Given the description of an element on the screen output the (x, y) to click on. 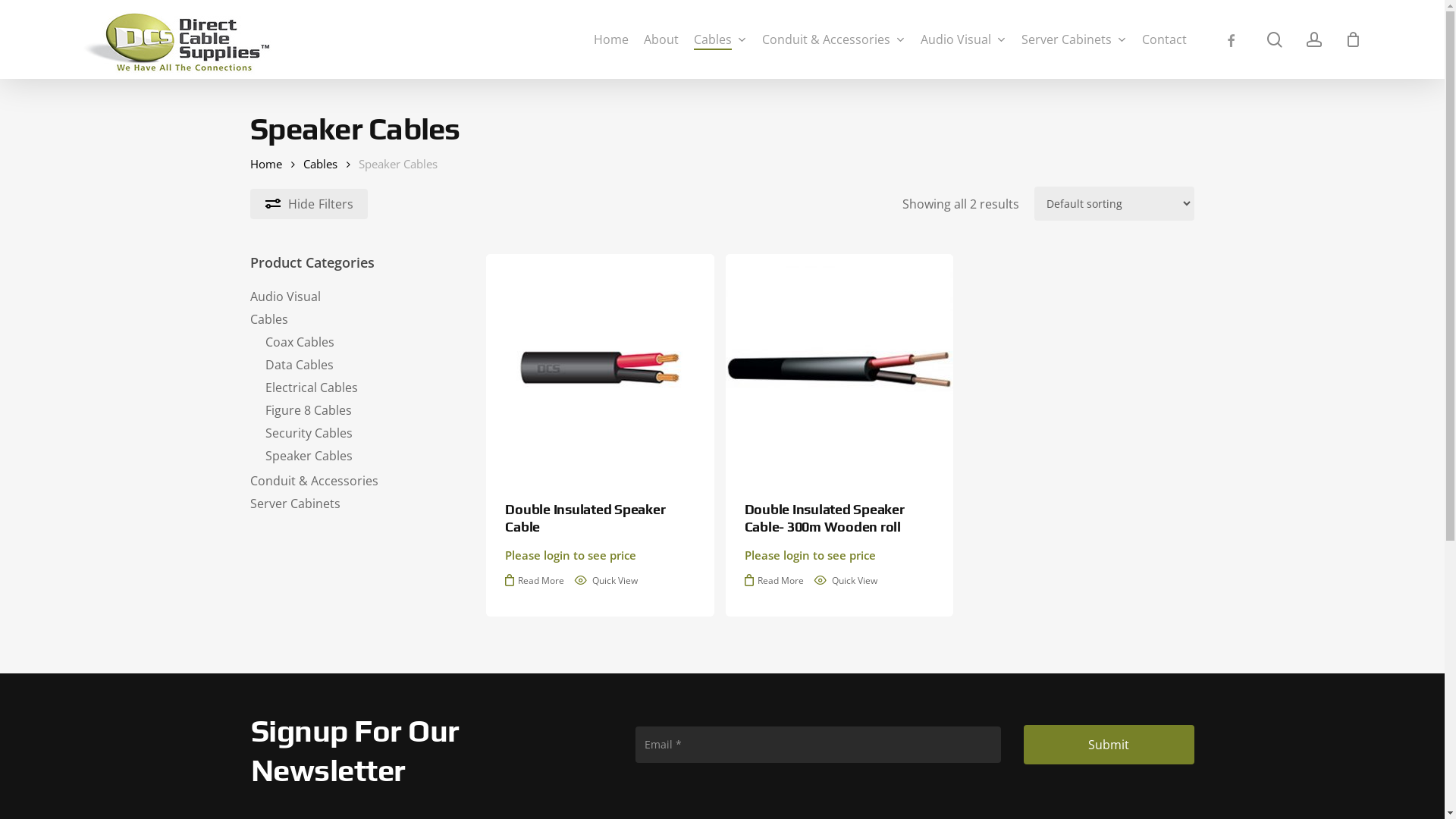
Audio Visual Element type: text (963, 39)
Double Insulated Speaker Cable Element type: text (599, 518)
Please login to see price Element type: text (570, 554)
Cables Element type: text (349, 319)
Hide
Filters Element type: text (308, 203)
Audio Visual Element type: text (349, 296)
Cables Element type: text (320, 163)
Server Cabinets Element type: text (1073, 39)
account Element type: text (1314, 39)
Quick View Element type: text (845, 581)
Figure 8 Cables Element type: text (356, 410)
Submit Element type: text (1108, 744)
Coax Cables Element type: text (356, 341)
search Element type: text (1274, 39)
Conduit & Accessories Element type: text (349, 480)
Electrical Cables Element type: text (356, 387)
Quick View Element type: text (605, 581)
Security Cables Element type: text (356, 432)
Server Cabinets Element type: text (349, 503)
Please login to see price Element type: text (809, 554)
Home Element type: text (610, 39)
Double Insulated Speaker Cable- 300m Wooden roll Element type: text (839, 518)
Contact Element type: text (1164, 39)
Read More Element type: text (773, 581)
facebook Element type: text (1230, 39)
Speaker Cables Element type: text (356, 455)
Data Cables Element type: text (356, 364)
Home Element type: text (266, 163)
Conduit & Accessories Element type: text (833, 39)
Read More Element type: text (534, 581)
About Element type: text (660, 39)
Cables Element type: text (719, 39)
